Given the description of an element on the screen output the (x, y) to click on. 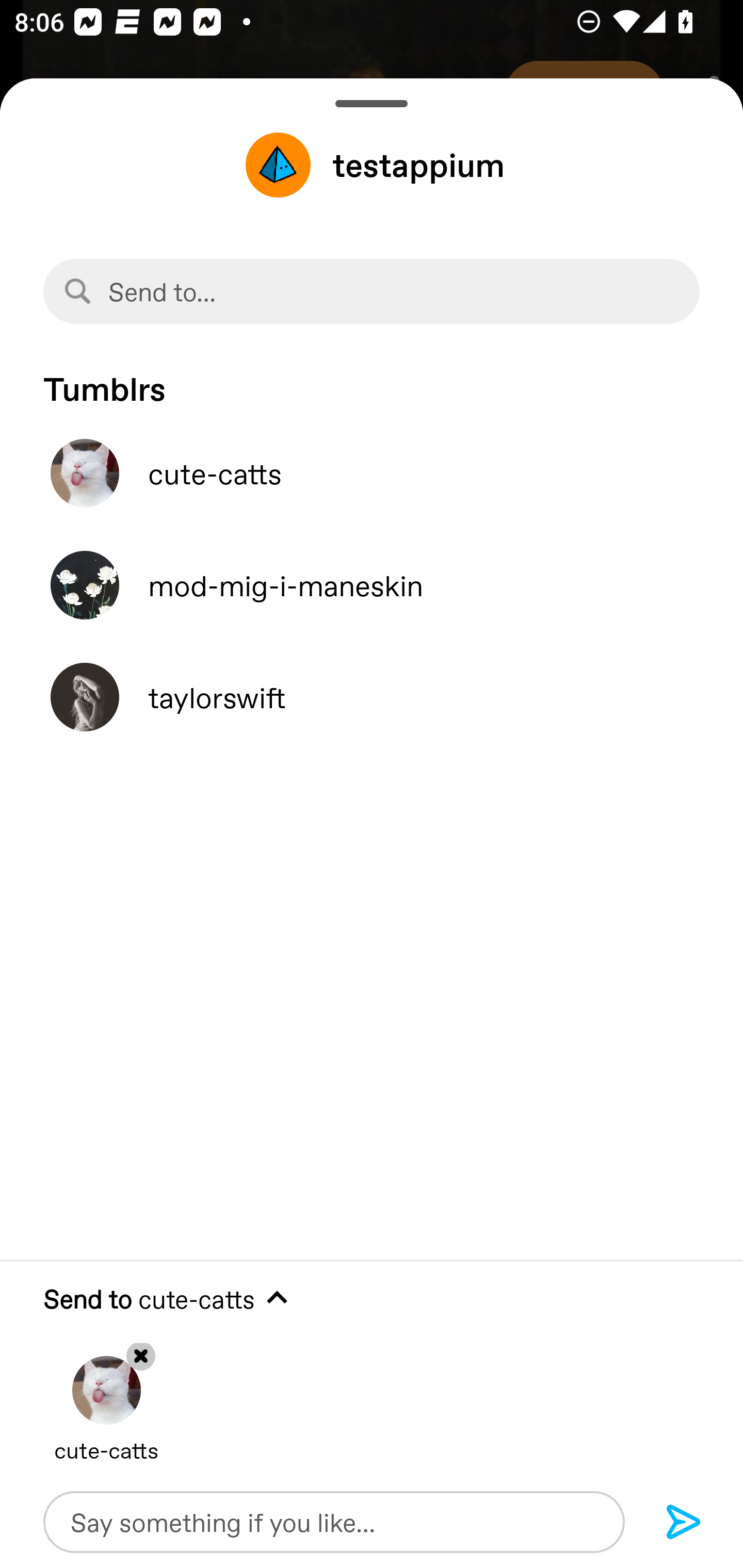
testappium (371, 164)
Send to… (371, 291)
Tumblrs (371, 379)
cute-catts (371, 473)
mod-mig-i-maneskin (371, 585)
taylorswift (371, 696)
Send to cute-catts (371, 1298)
Dismiss cute-catts (106, 1395)
Send (683, 1522)
Say something if you like… (333, 1521)
